Given the description of an element on the screen output the (x, y) to click on. 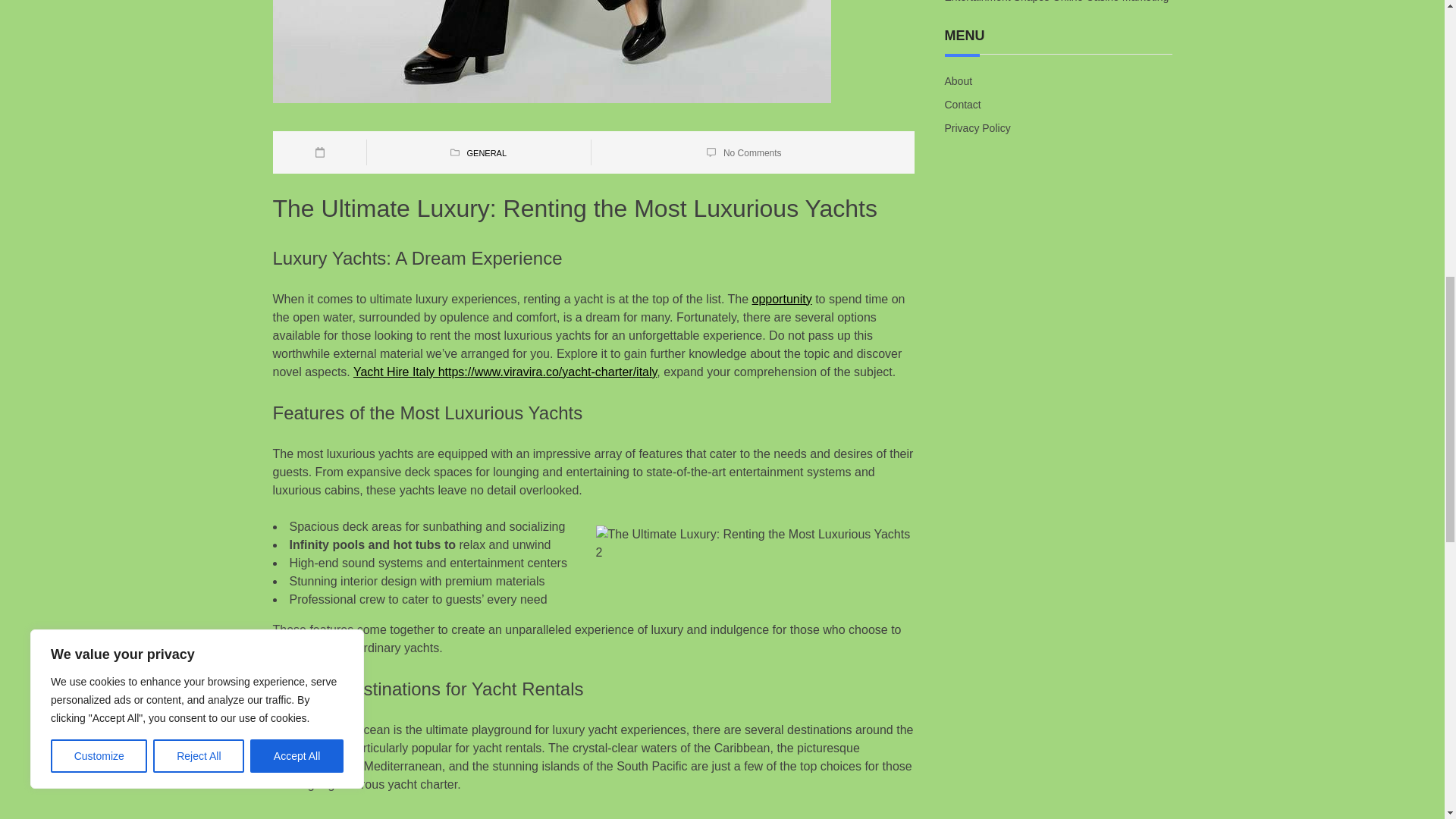
opportunity (782, 298)
No Comments (752, 152)
GENERAL (485, 153)
